Given the description of an element on the screen output the (x, y) to click on. 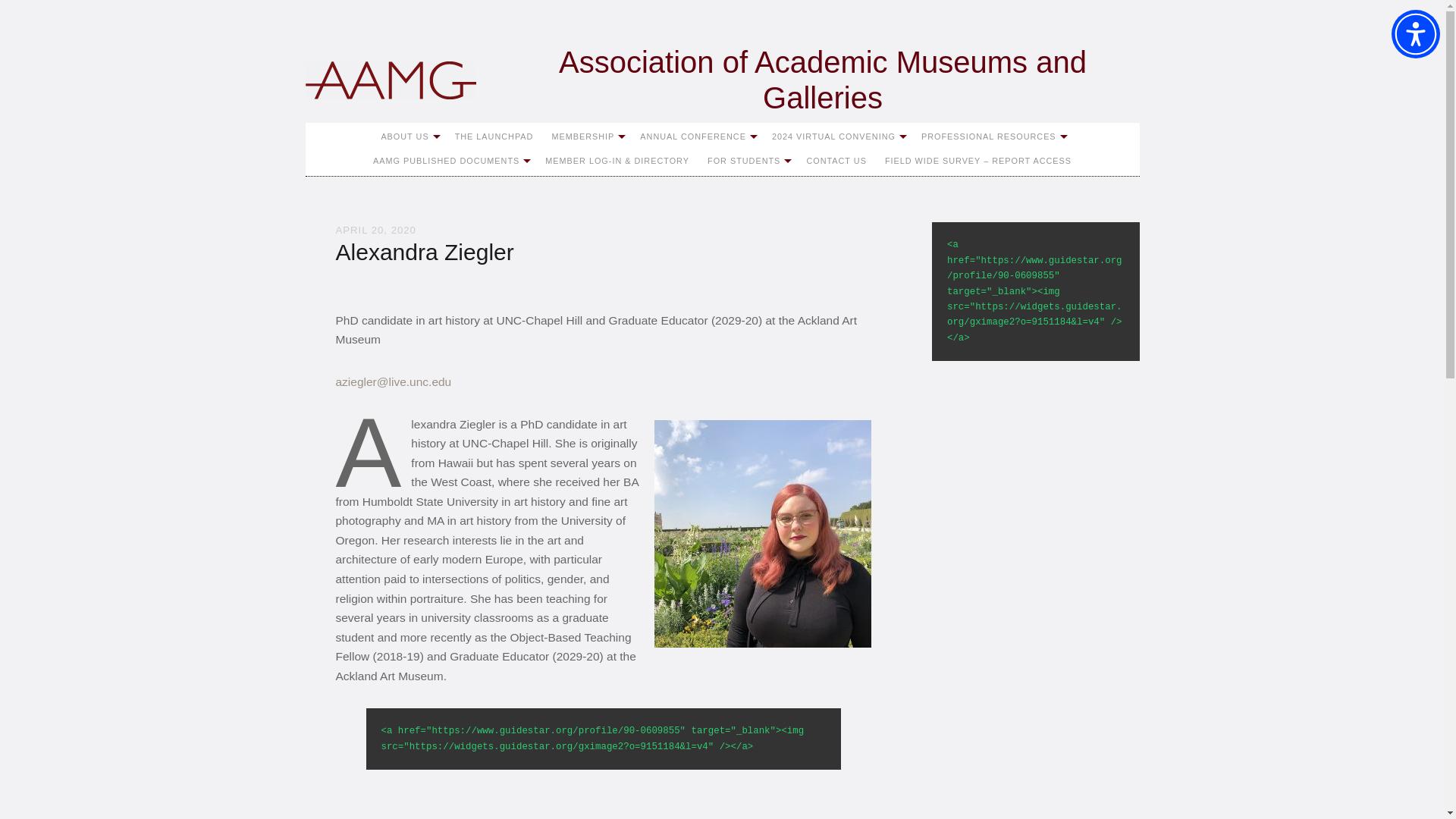
Home (390, 80)
Association of Academic Museums and Galleries (721, 80)
ABOUT US (408, 137)
Home (721, 80)
MEMBERSHIP (585, 137)
THE LAUNCHPAD (493, 137)
2024 VIRTUAL CONVENING (837, 137)
ANNUAL CONFERENCE (696, 137)
Accessibility Menu (1415, 33)
